Given the description of an element on the screen output the (x, y) to click on. 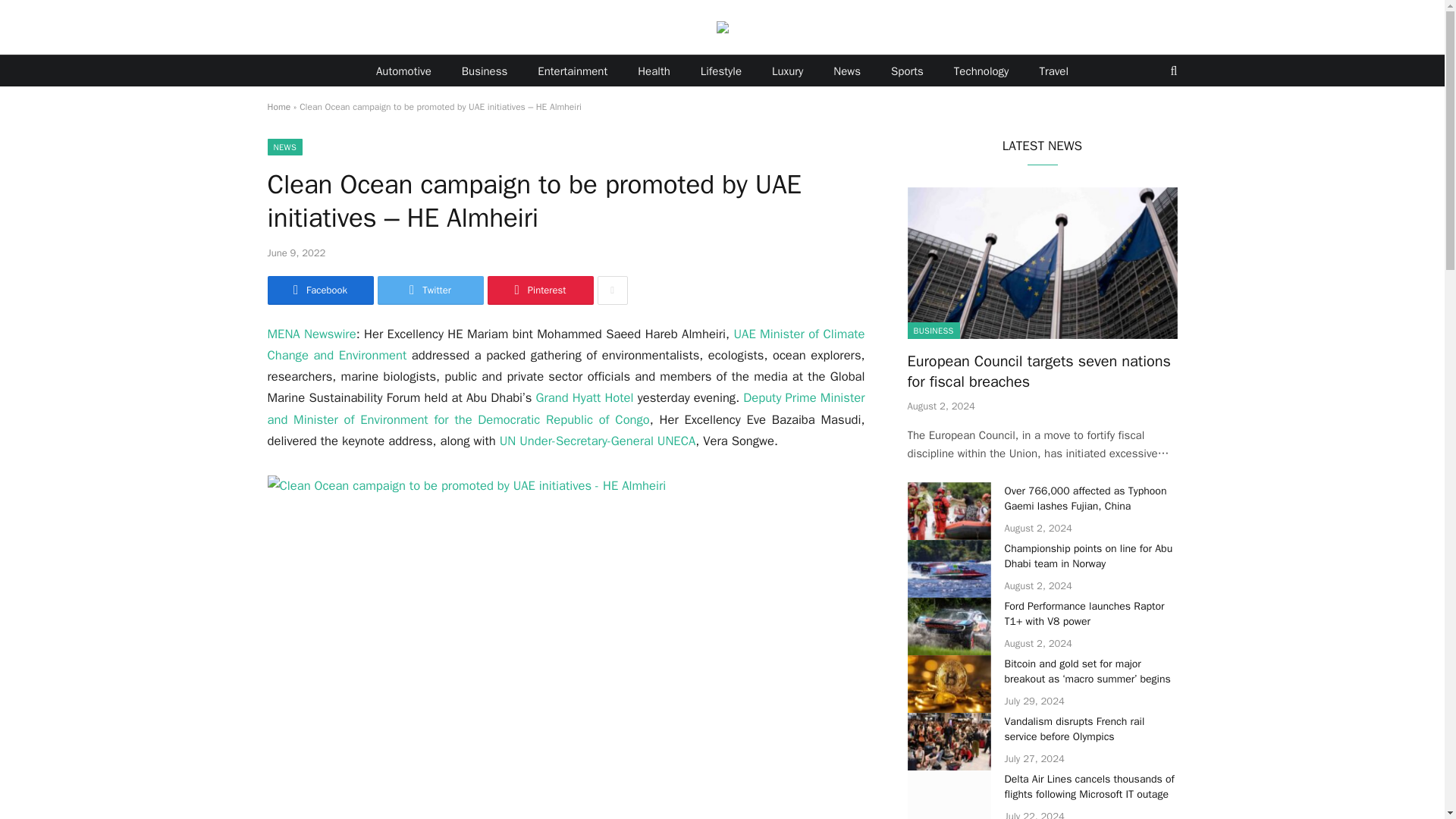
Sports (907, 70)
NEWS (284, 146)
Luxury (787, 70)
MENA Newswire (310, 333)
Share on Pinterest (539, 290)
Automotive (403, 70)
Facebook (319, 290)
Lifestyle (721, 70)
Home (277, 106)
Health (654, 70)
News (847, 70)
Share on Facebook (319, 290)
Pinterest (539, 290)
Entertainment (572, 70)
Travel (1053, 70)
